Given the description of an element on the screen output the (x, y) to click on. 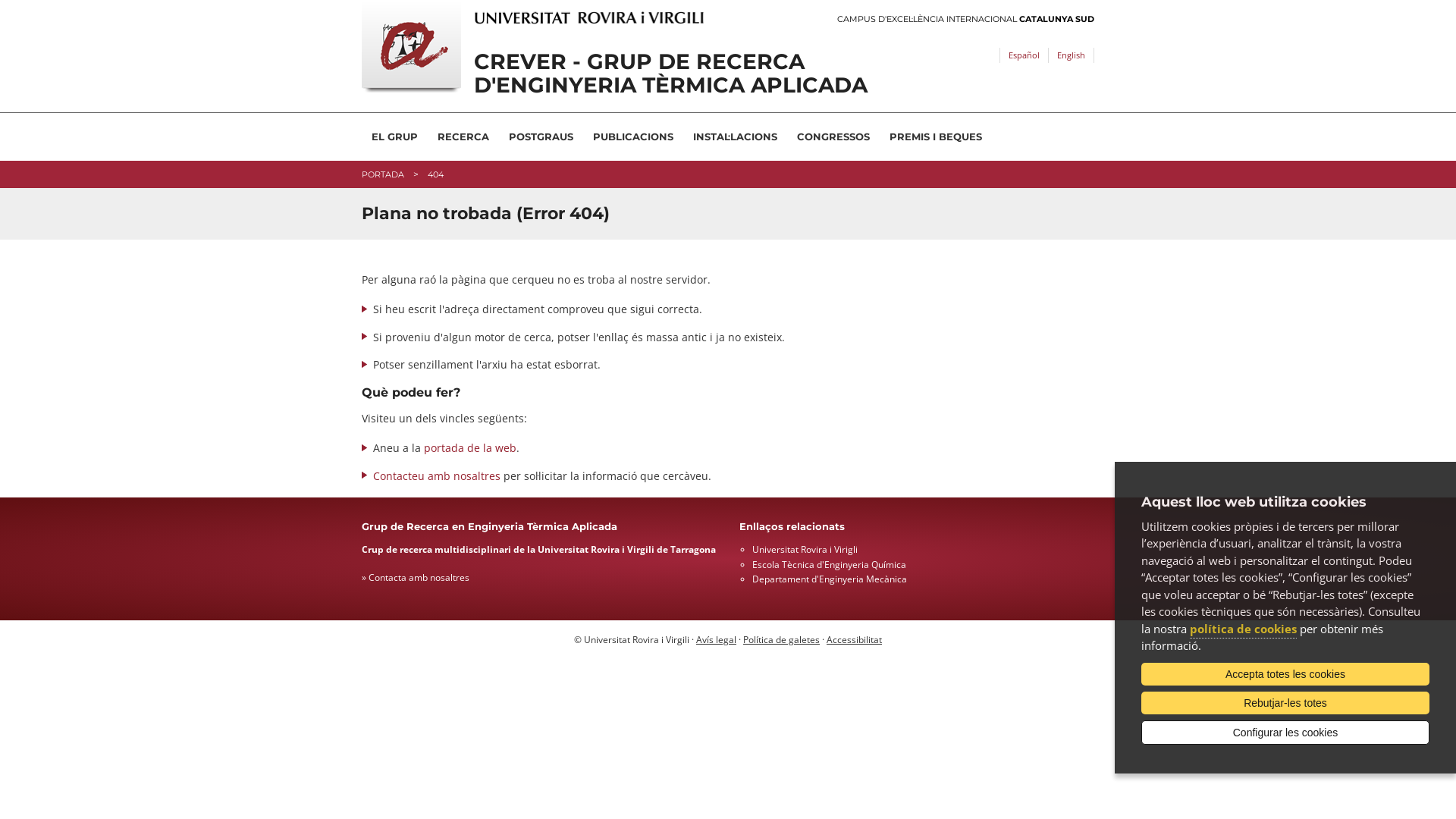
Contacta amb nosaltres Element type: text (418, 577)
POSTGRAUS Element type: text (540, 136)
English Element type: text (1071, 54)
Accessibilitat Element type: text (853, 639)
CONGRESSOS Element type: text (833, 136)
portada de la web Element type: text (469, 447)
RECERCA Element type: text (462, 136)
PREMIS I BEQUES Element type: text (935, 136)
Contacteu amb nosaltres Element type: text (436, 475)
Accepta totes les cookies Element type: text (1285, 673)
Configurar les cookies Element type: text (1285, 732)
Universitat Rovira i Virigli Element type: text (804, 548)
PORTADA Element type: text (382, 174)
PUBLICACIONS Element type: text (633, 136)
EL GRUP Element type: text (394, 136)
Rebutjar-les totes Element type: text (1285, 702)
